Given the description of an element on the screen output the (x, y) to click on. 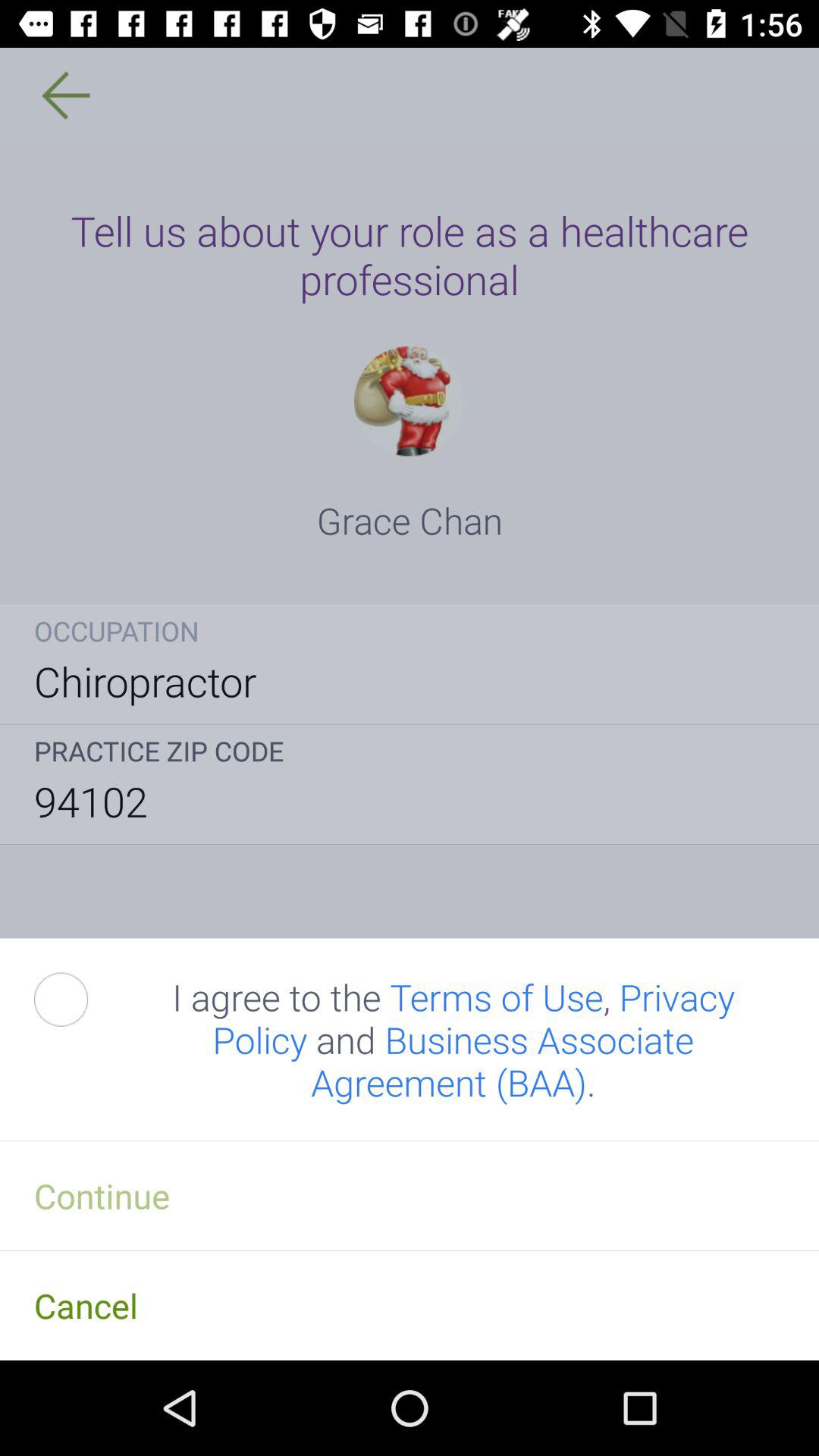
select the icon to the left of i agree to item (78, 999)
